Given the description of an element on the screen output the (x, y) to click on. 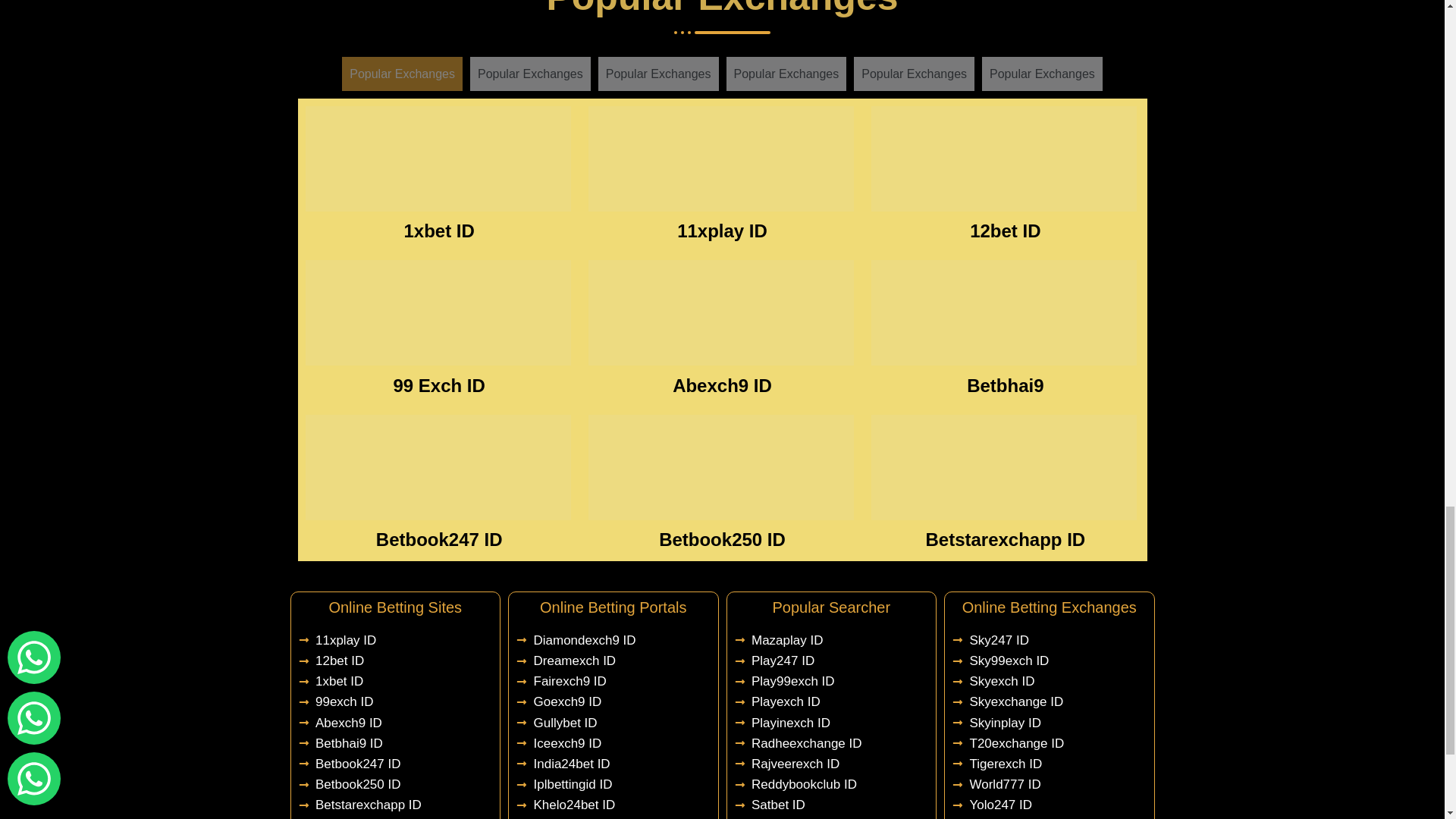
11xplay ID (722, 230)
12bet ID (1005, 230)
Abexch9 ID (721, 385)
Popular Exchanges (913, 73)
1xbet ID (438, 230)
Popular Exchanges (1041, 73)
Betbhai9 (1004, 385)
Popular Exchanges (530, 73)
Popular Exchanges (786, 73)
Popular Exchanges (658, 73)
Popular Exchanges (402, 73)
99 Exch ID (438, 385)
Betbook247 ID (438, 539)
